Given the description of an element on the screen output the (x, y) to click on. 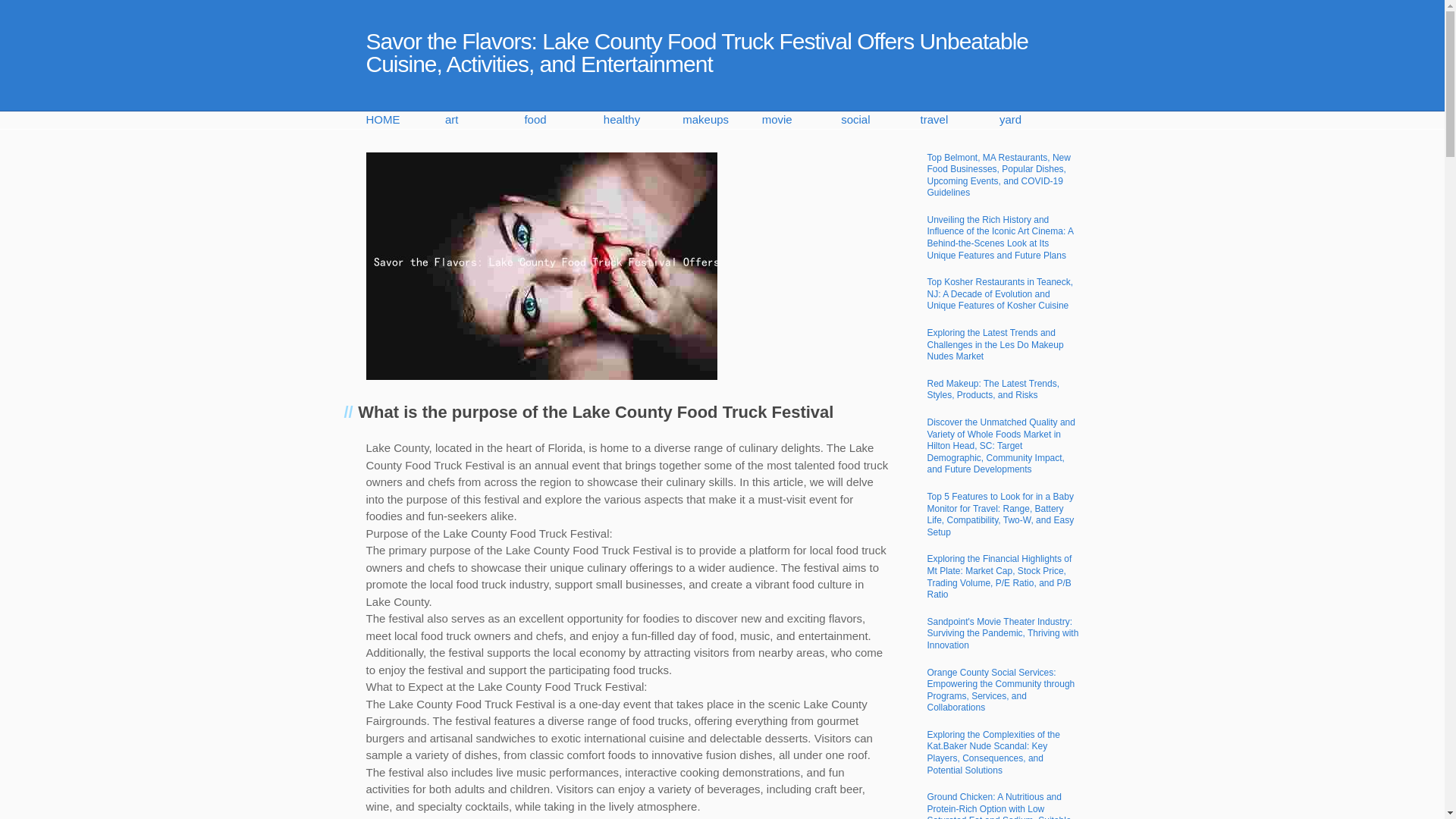
healthy (643, 119)
social (880, 119)
art (484, 119)
movie (801, 119)
HOME (404, 119)
